Given the description of an element on the screen output the (x, y) to click on. 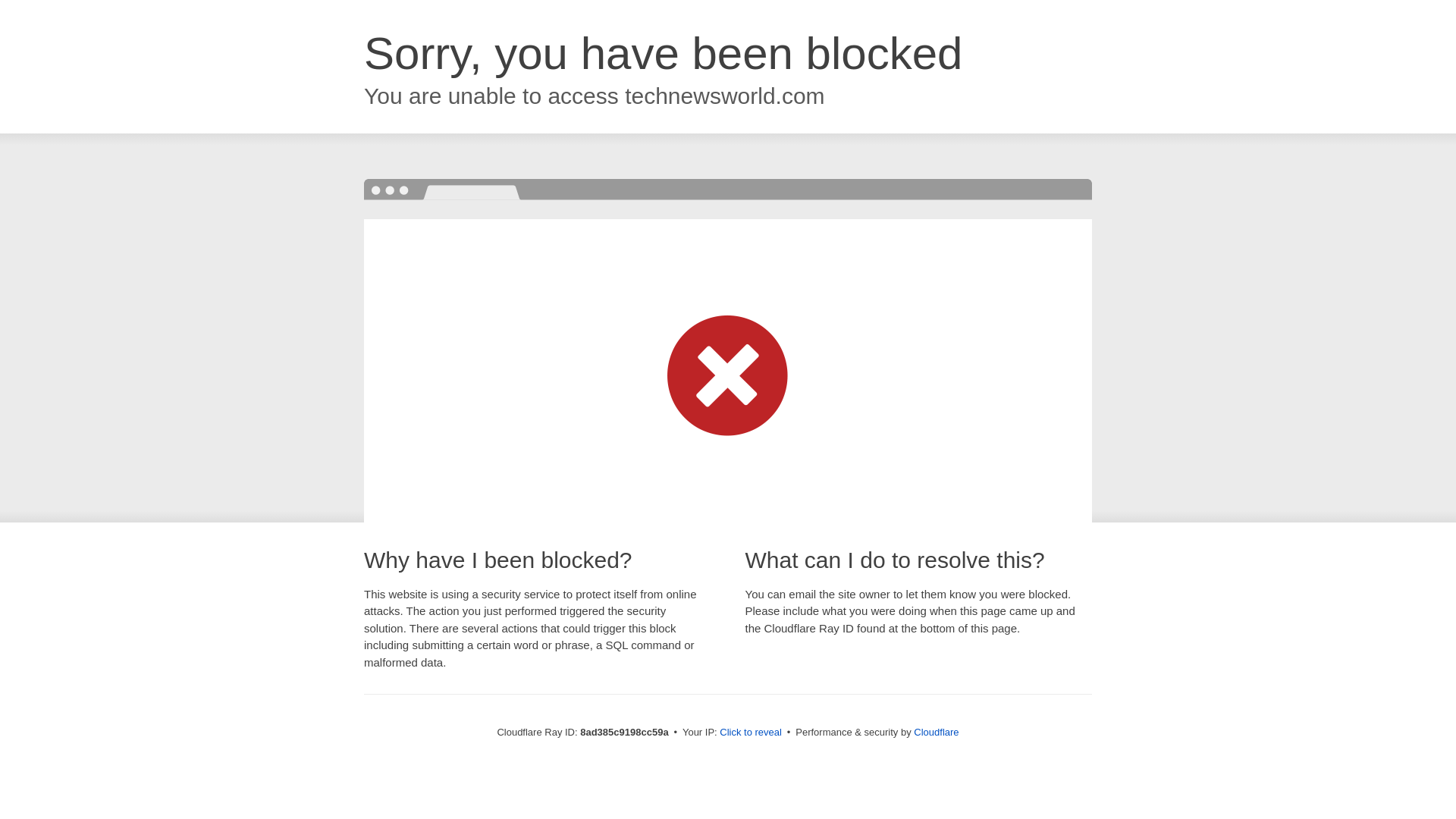
Click to reveal (750, 732)
Cloudflare (936, 731)
